Given the description of an element on the screen output the (x, y) to click on. 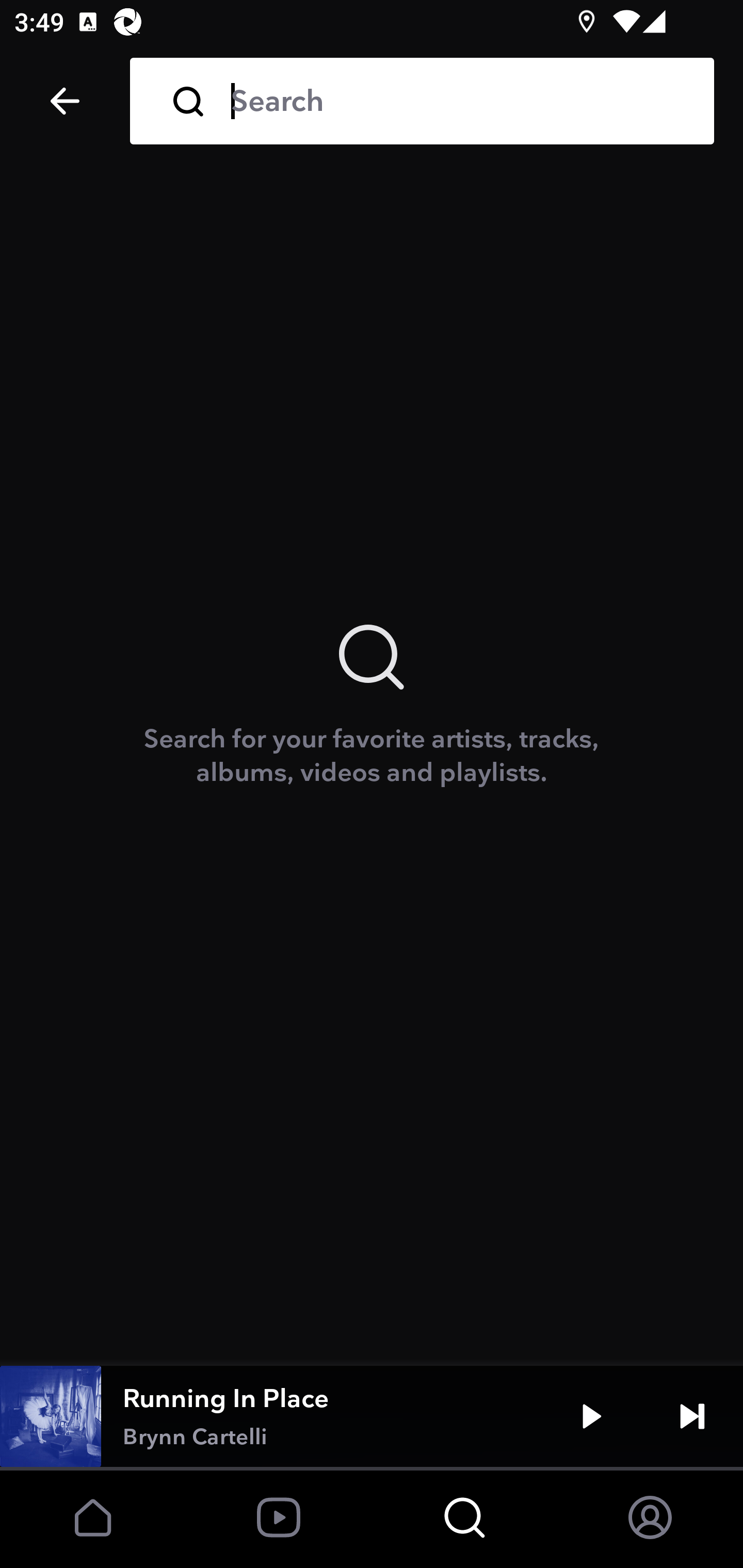
Search (457, 100)
Running In Place Brynn Cartelli Play (371, 1416)
Play (590, 1416)
